Given the description of an element on the screen output the (x, y) to click on. 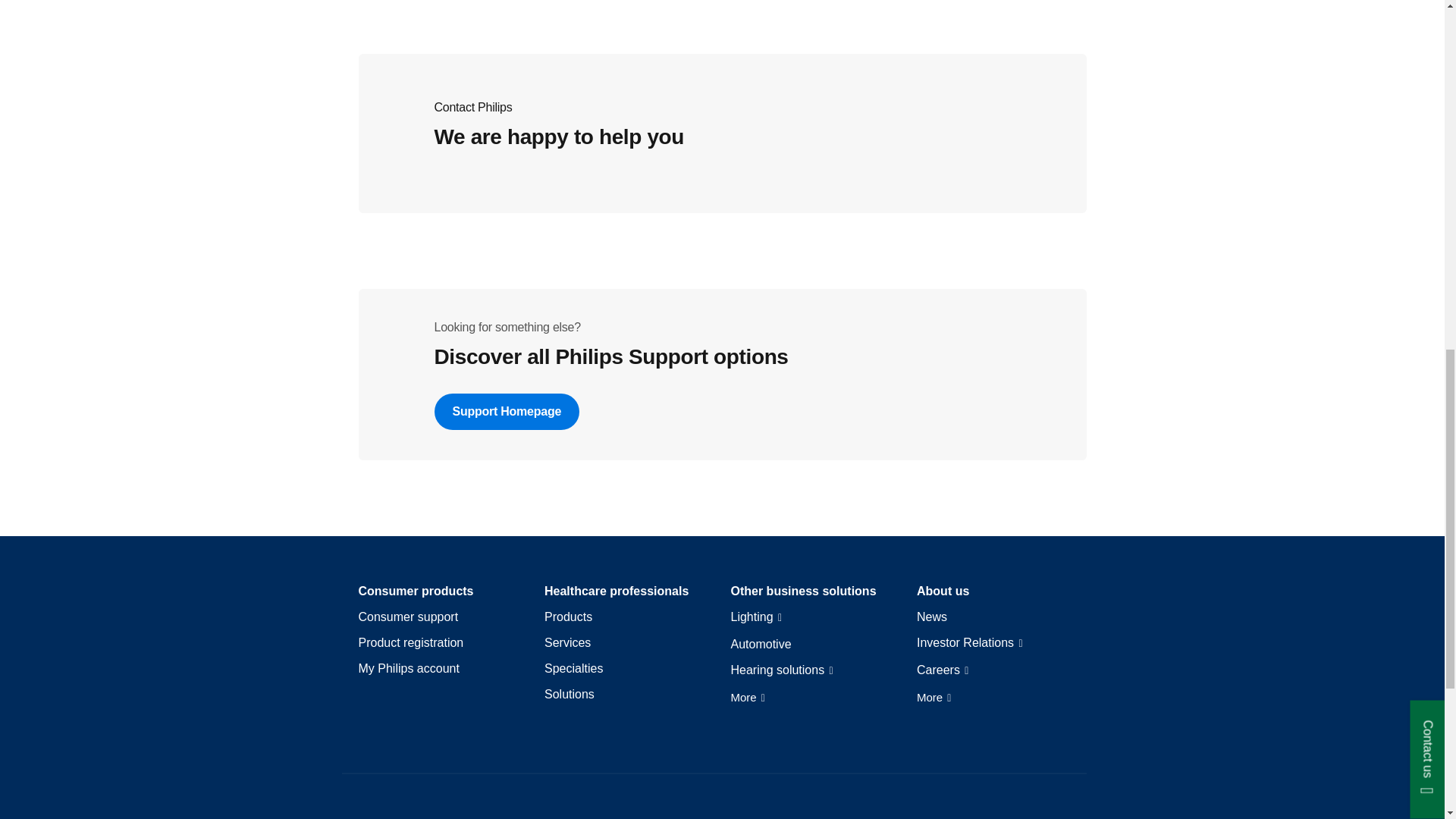
Product registration (410, 642)
Consumer support  (408, 617)
Specialties (573, 668)
Automotive (761, 644)
About us (943, 591)
Healthcare professionals (616, 591)
Consumer products (415, 591)
My Philips account (408, 668)
Products (568, 617)
News (932, 617)
Solutions (569, 694)
Services (567, 642)
